Given the description of an element on the screen output the (x, y) to click on. 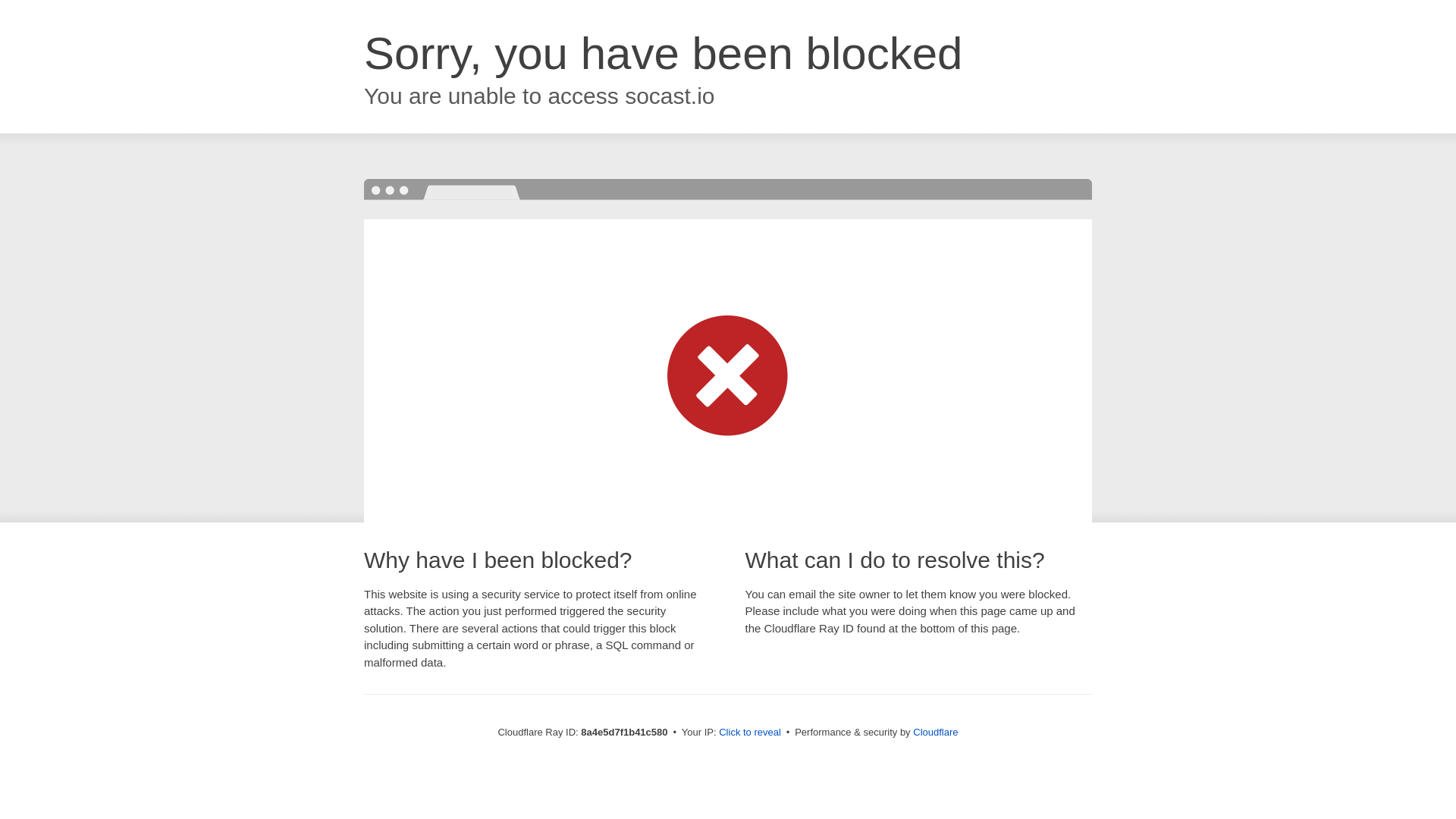
Click to reveal (749, 732)
Cloudflare (935, 731)
